Given the description of an element on the screen output the (x, y) to click on. 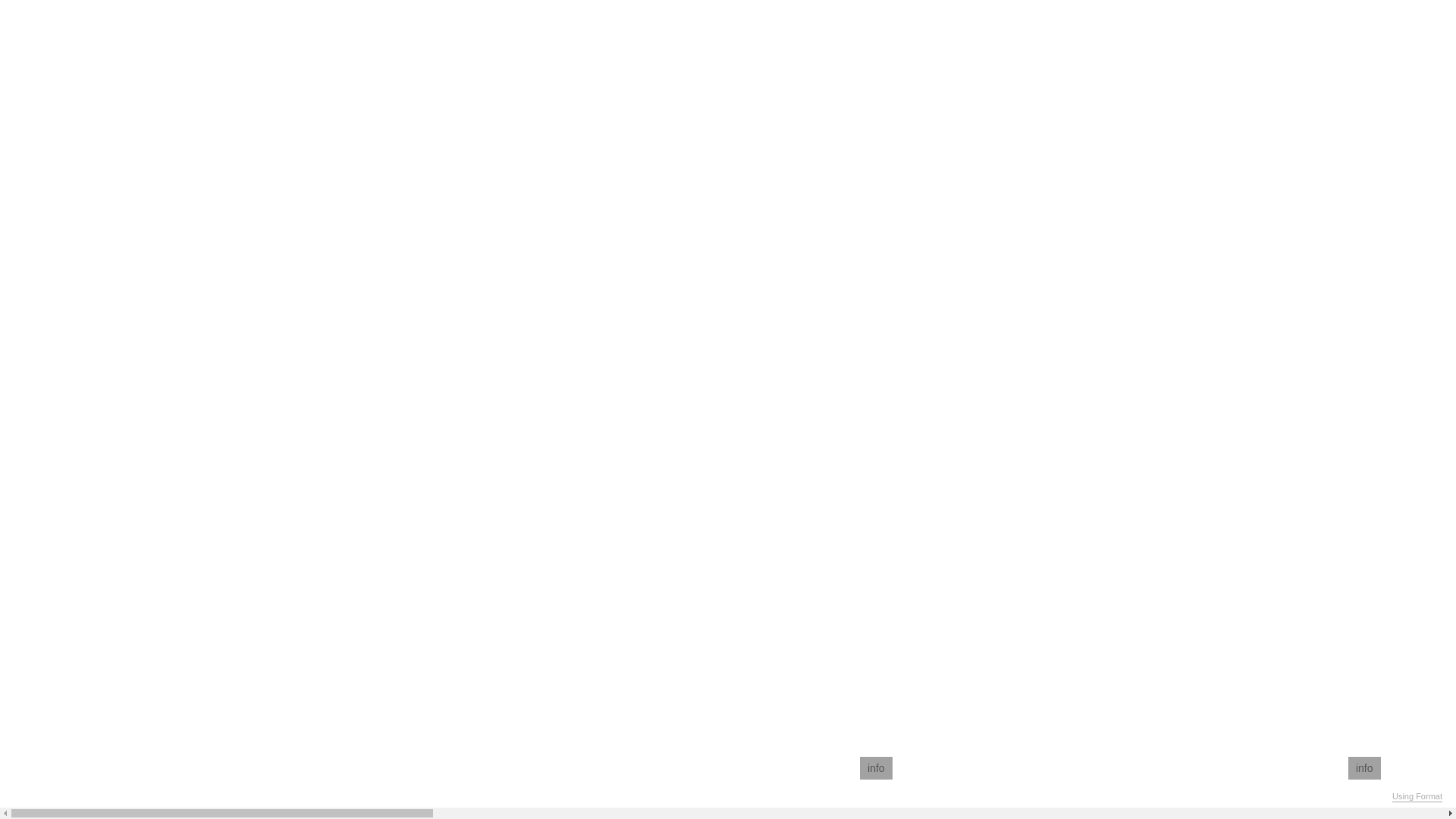
Using Format Element type: text (1417, 796)
info Element type: text (875, 767)
info Element type: text (1364, 767)
